Given the description of an element on the screen output the (x, y) to click on. 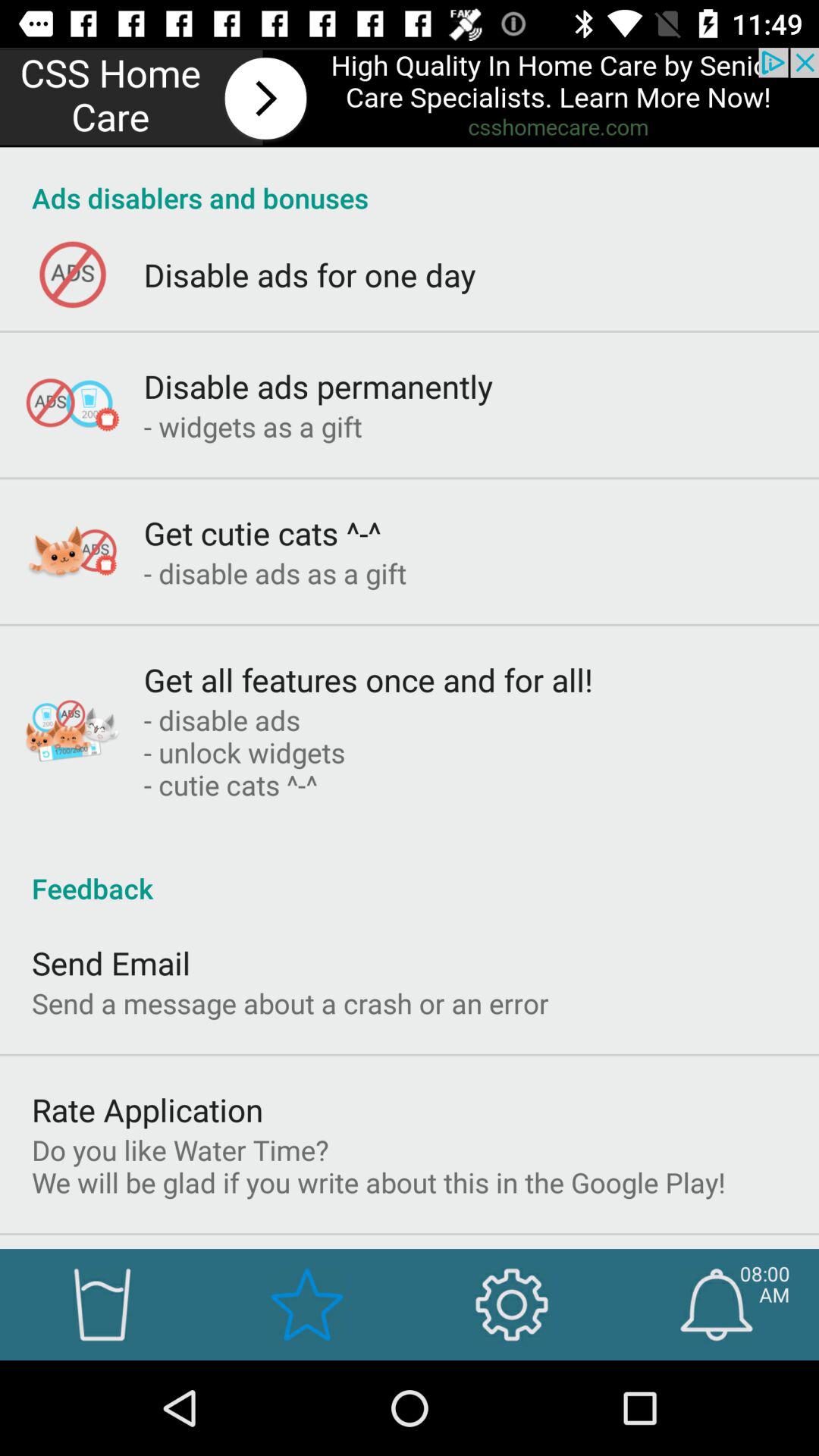
preview advertisement (409, 97)
